Given the description of an element on the screen output the (x, y) to click on. 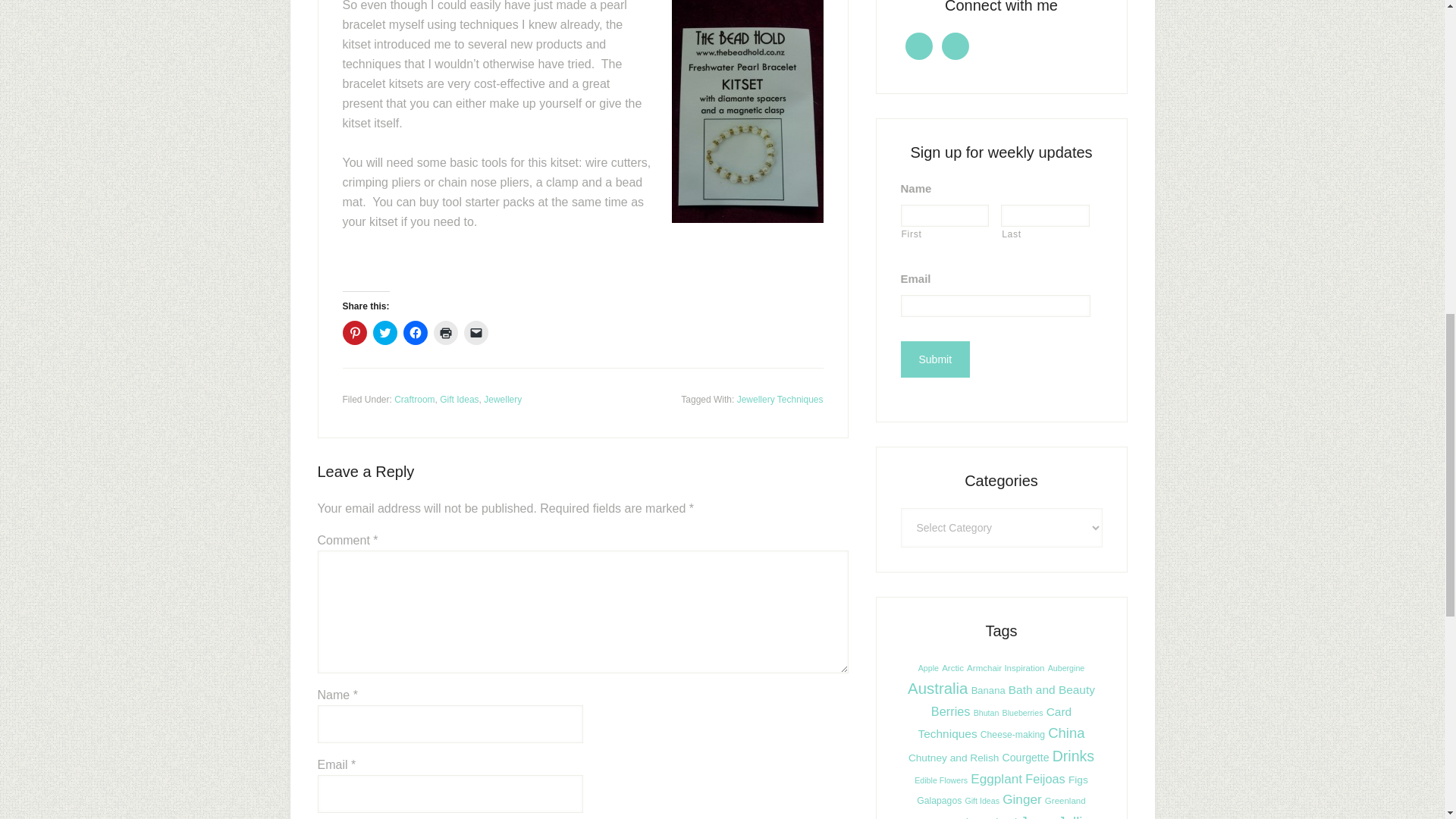
Submit (936, 359)
Click to share on Facebook (415, 332)
Click to share on Twitter (384, 332)
Click to print (445, 332)
Click to email a link to a friend (475, 332)
Click to share on Pinterest (354, 332)
